Given the description of an element on the screen output the (x, y) to click on. 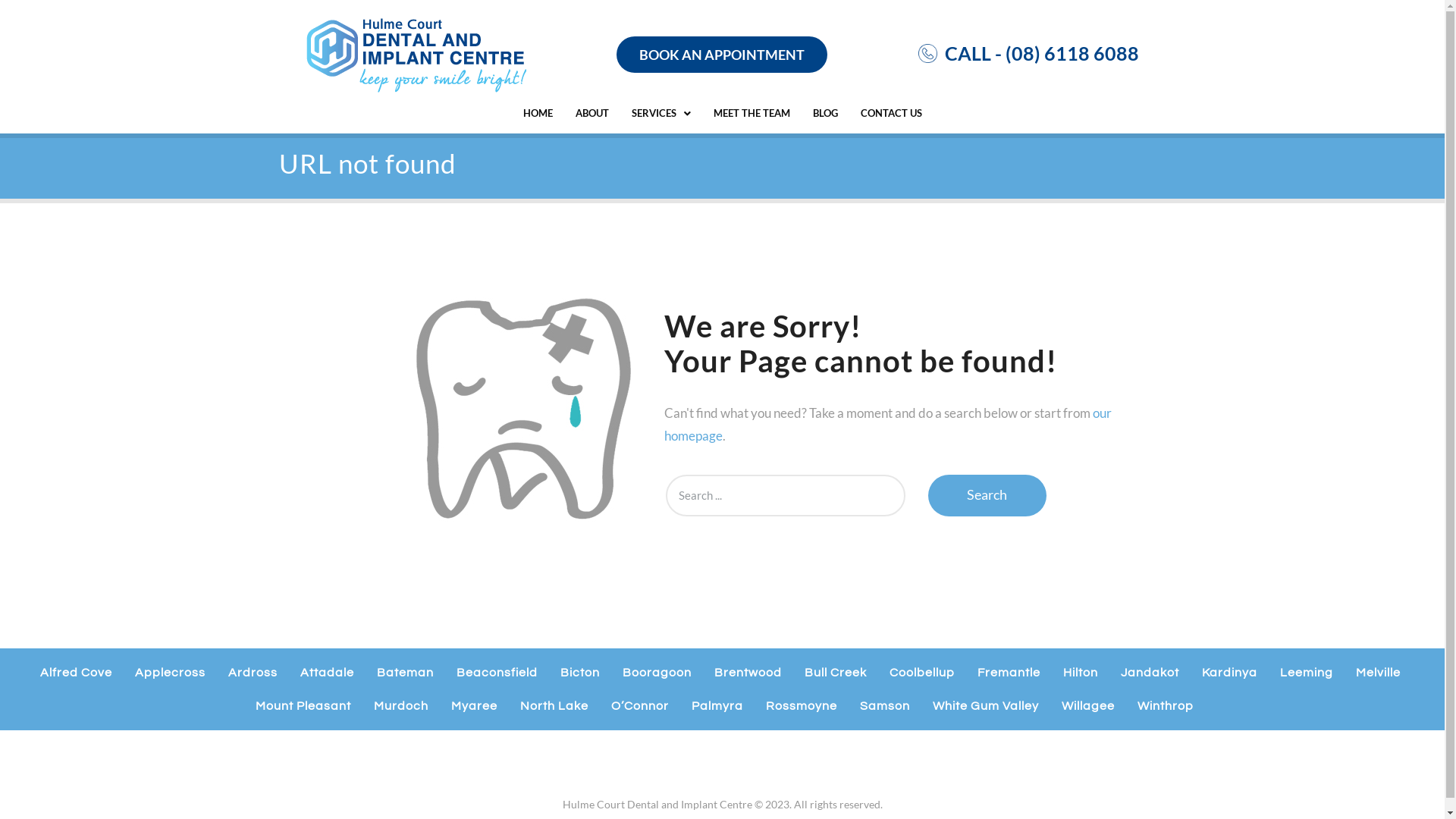
Willagee Element type: text (1088, 705)
Search Element type: text (987, 495)
Applecross Element type: text (170, 672)
Bicton Element type: text (579, 672)
Winthrop Element type: text (1165, 705)
BLOG Element type: text (824, 112)
Leeming Element type: text (1306, 672)
Alfred Cove Element type: text (75, 672)
North Lake Element type: text (554, 705)
MEET THE TEAM Element type: text (751, 112)
Ardross Element type: text (252, 672)
Bateman Element type: text (405, 672)
Myaree Element type: text (473, 705)
Coolbellup Element type: text (921, 672)
Attadale Element type: text (326, 672)
CONTACT US Element type: text (891, 112)
ABOUT Element type: text (592, 112)
Kardinya Element type: text (1229, 672)
White Gum Valley Element type: text (985, 705)
Murdoch Element type: text (400, 705)
Hilton Element type: text (1080, 672)
Rossmoyne Element type: text (801, 705)
Melville Element type: text (1378, 672)
Samson Element type: text (884, 705)
Fremantle Element type: text (1008, 672)
Beaconsfield Element type: text (496, 672)
Palmyra Element type: text (717, 705)
Mount Pleasant Element type: text (302, 705)
Brentwood Element type: text (747, 672)
Booragoon Element type: text (657, 672)
Jandakot Element type: text (1149, 672)
Bull Creek Element type: text (835, 672)
HOME Element type: text (537, 112)
Search ... Element type: hover (785, 495)
CALL - (08) 6118 6088 Element type: text (1041, 51)
BOOK AN APPOINTMENT Element type: text (721, 54)
SERVICES Element type: text (661, 112)
our homepage Element type: text (887, 423)
